Given the description of an element on the screen output the (x, y) to click on. 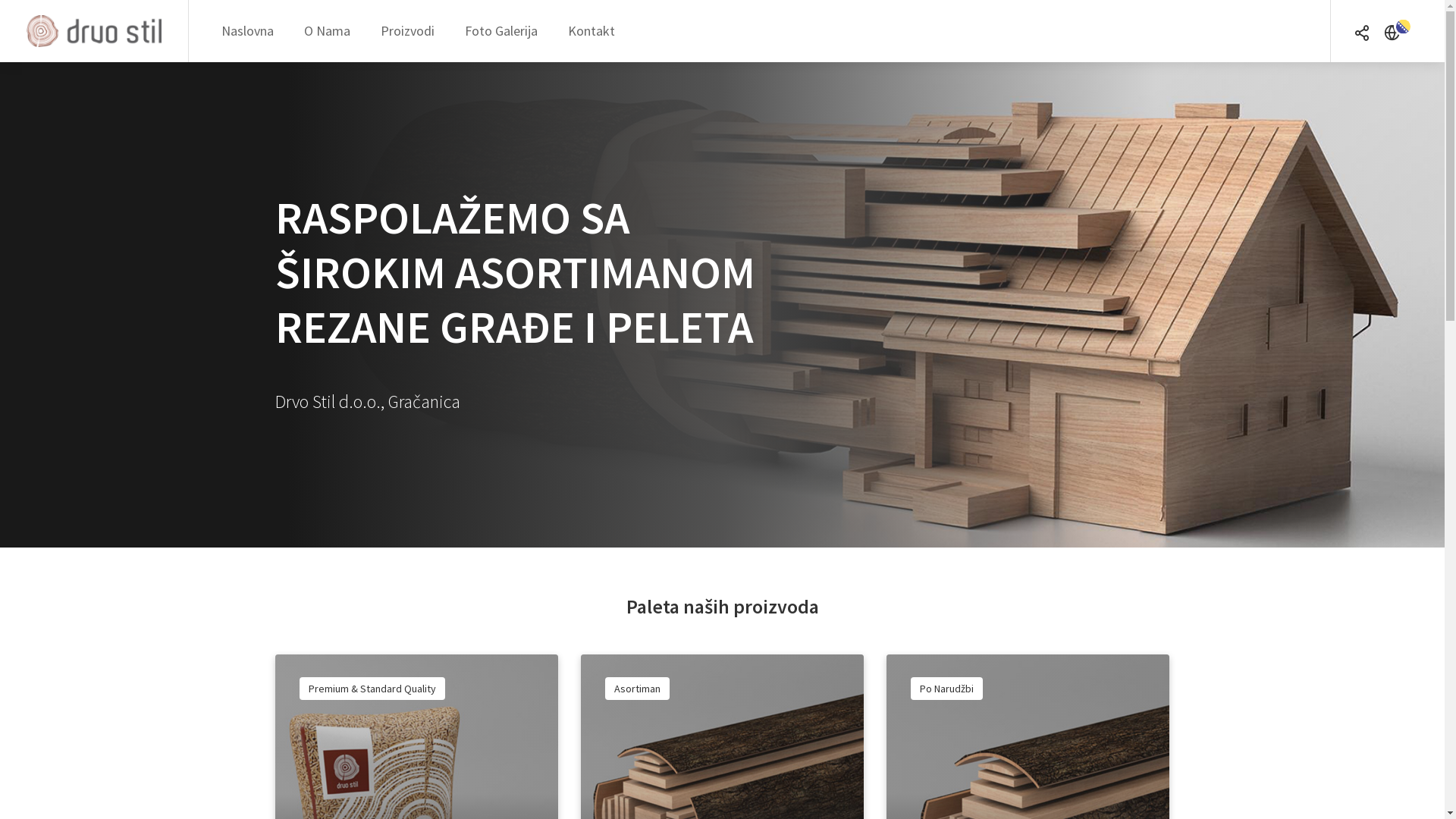
Kontakt Element type: text (591, 30)
Proizvodi Element type: text (407, 30)
O Nama Element type: text (326, 30)
Naslovna Element type: text (247, 30)
Foto Galerija Element type: text (501, 30)
